Given the description of an element on the screen output the (x, y) to click on. 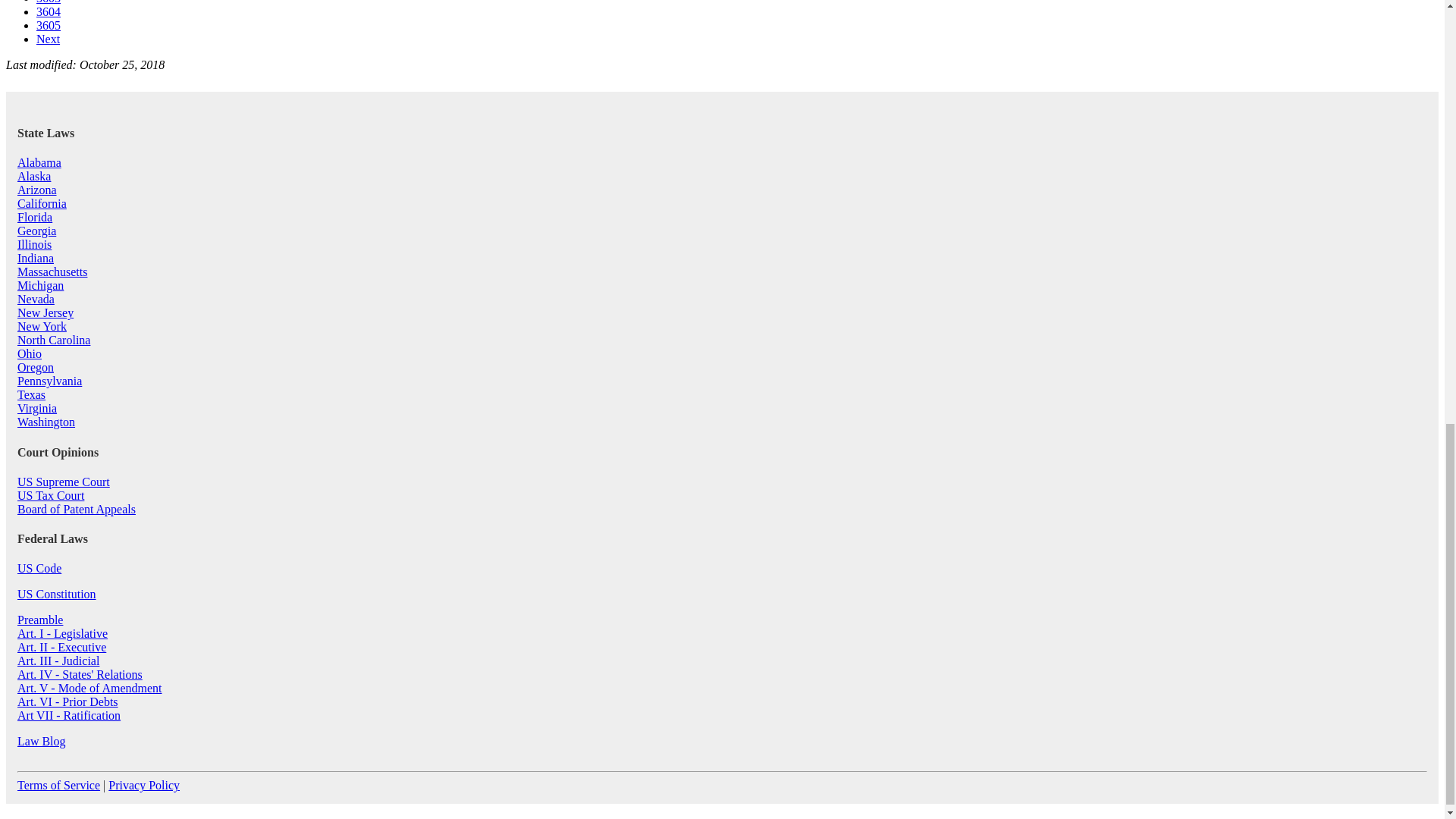
3604 (48, 11)
New Jersey (45, 312)
Florida (34, 216)
Illinois (33, 244)
California (41, 203)
Michigan (40, 285)
Massachusetts (52, 271)
Nevada (36, 298)
3603 (48, 2)
Alabama (39, 162)
3605 (48, 24)
Next (47, 38)
Arizona (36, 189)
Alaska (33, 175)
Ohio (29, 353)
